Given the description of an element on the screen output the (x, y) to click on. 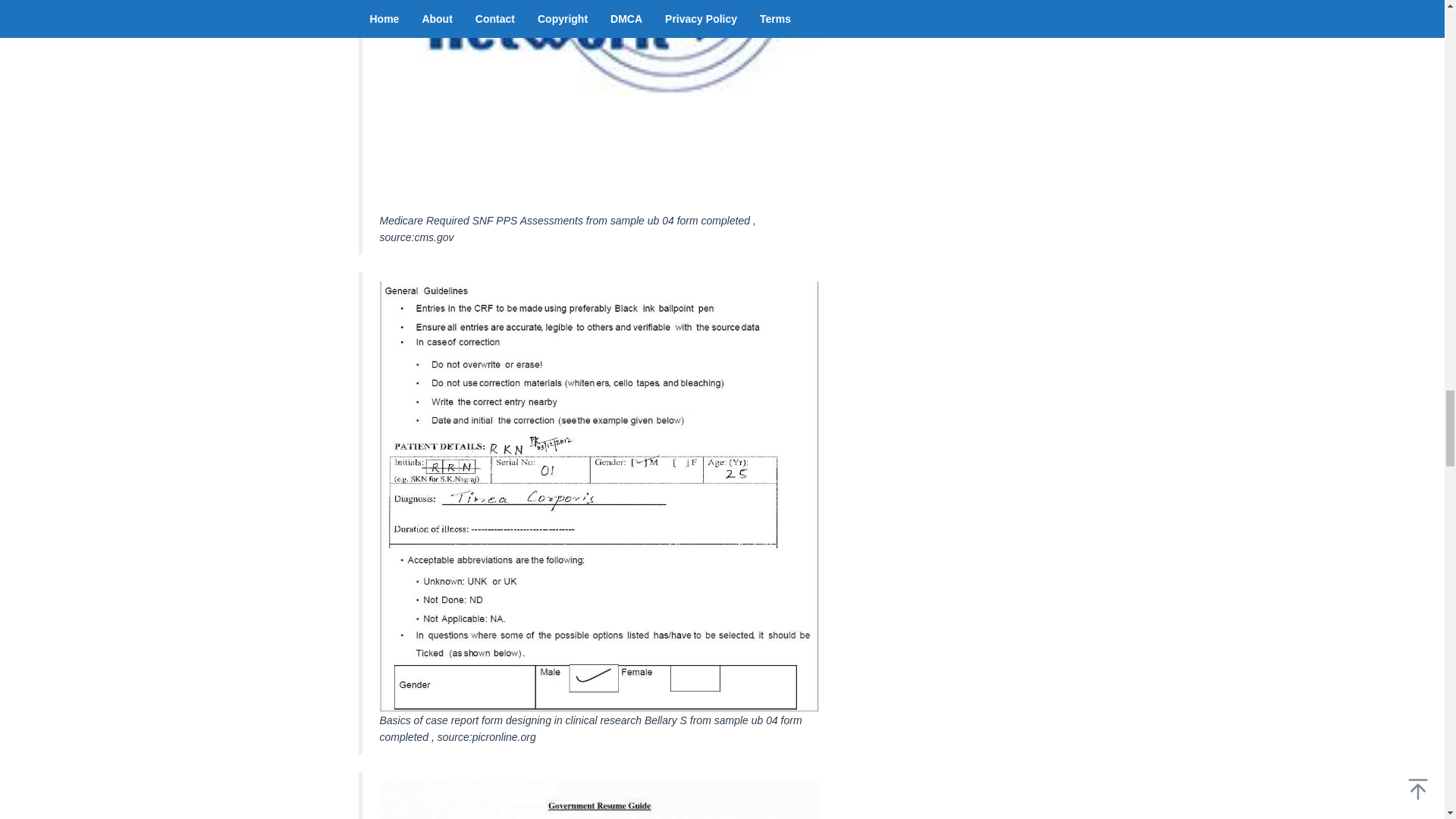
Medicare Required SNF PPS Assessments (598, 106)
Volunteer Work Resume Sample Inspirational 50 New Volunteer (598, 800)
